Given the description of an element on the screen output the (x, y) to click on. 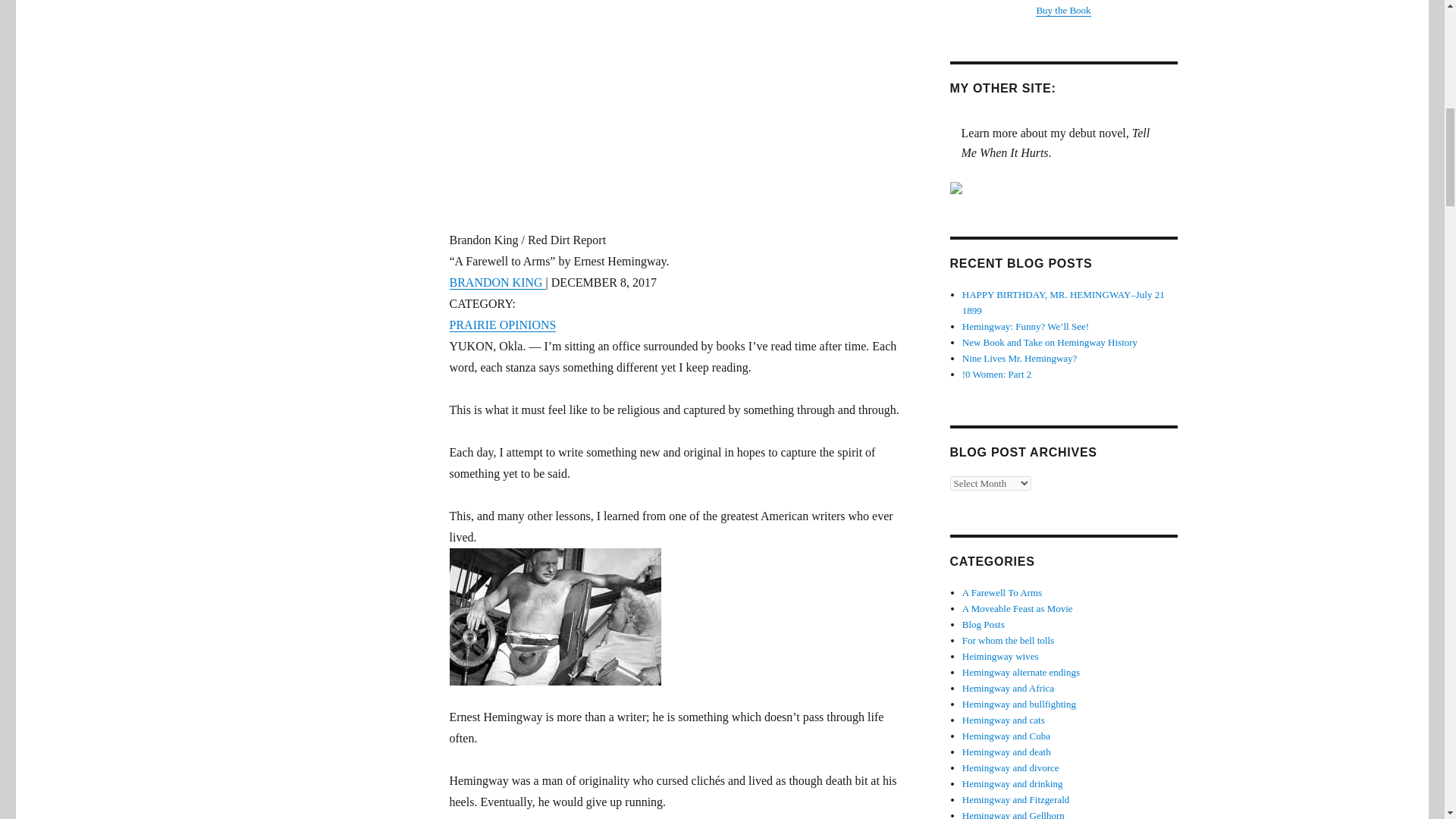
PRAIRIE OPINIONS (502, 324)
Buy the Book (1062, 9)
BRANDON KING (496, 282)
